Given the description of an element on the screen output the (x, y) to click on. 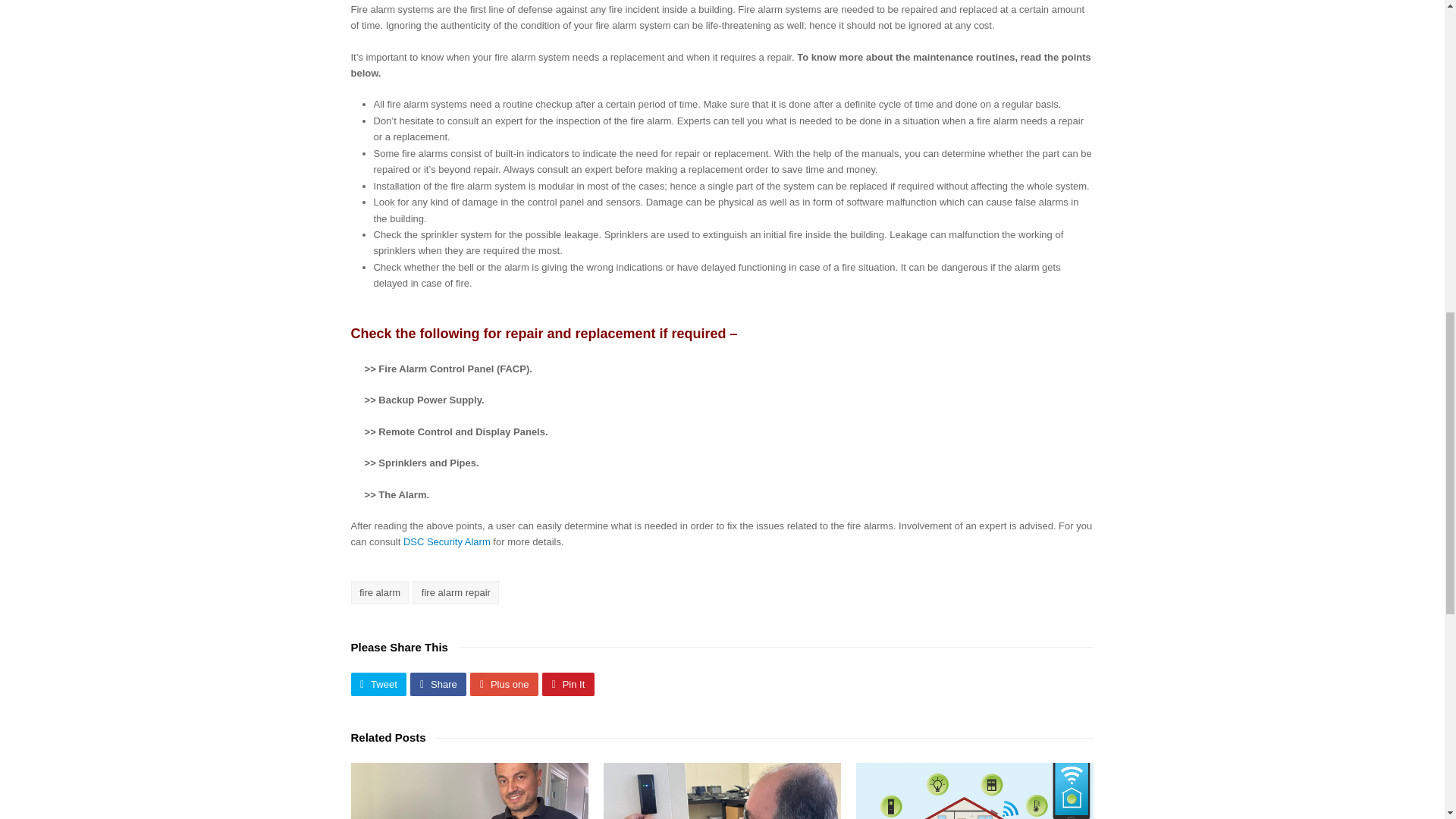
Why do we need security alarm system? (722, 790)
The DSC Alarm: Transforming Your Security Game (974, 790)
Share on Facebook (437, 684)
DSC Security Alarm (446, 541)
Tweet (378, 684)
Share (437, 684)
fire alarm (379, 592)
Share on Twitter (378, 684)
6 Smart Reasons to Choose DSC Alarm Installation and Service (469, 790)
Share on Pinterest (567, 684)
